Given the description of an element on the screen output the (x, y) to click on. 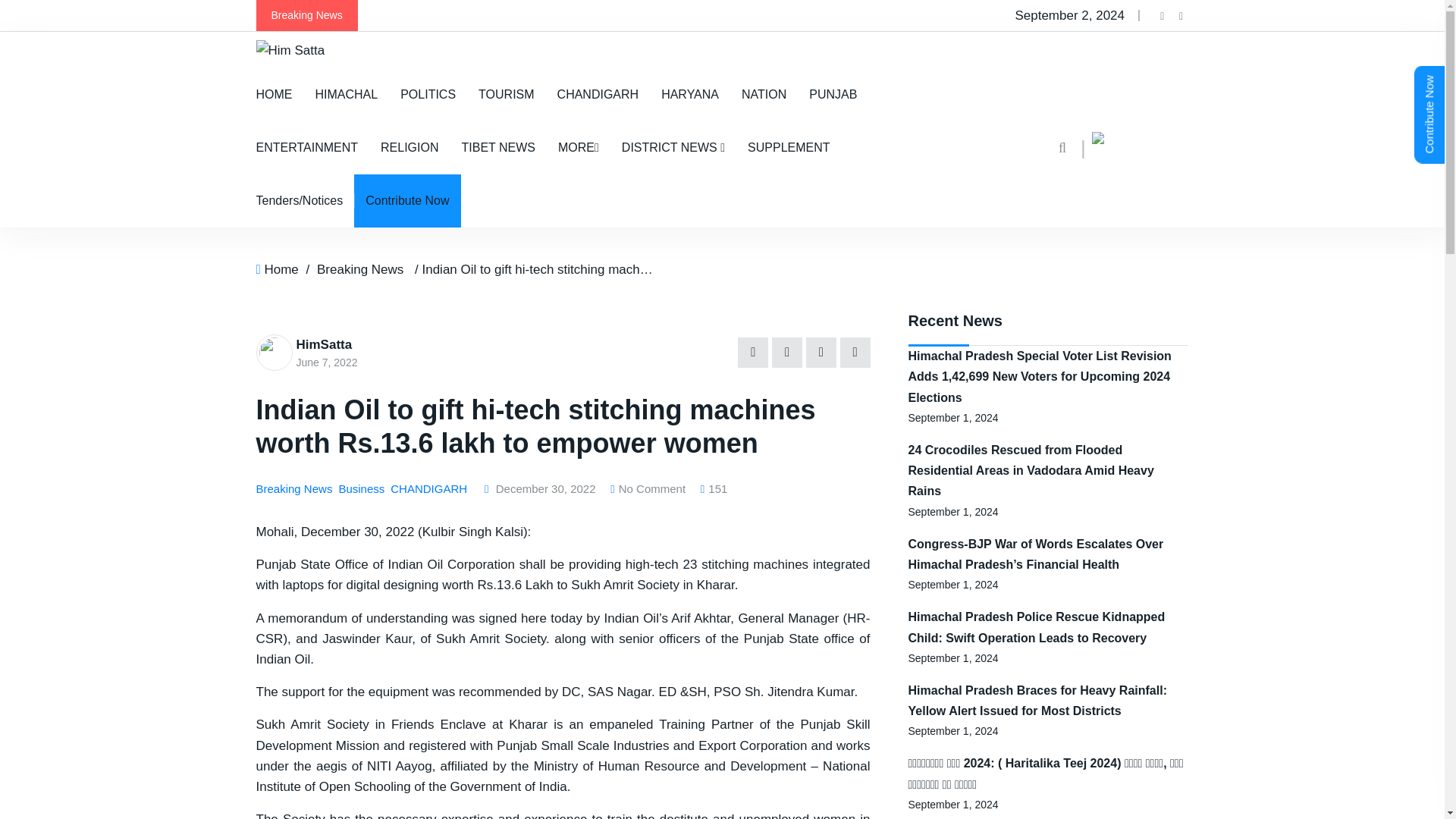
HIMACHAL (345, 94)
RELIGION (409, 147)
TIBET NEWS (498, 147)
POLITICS (427, 94)
TOURISM (505, 94)
HARYANA (689, 94)
MORE (578, 147)
NATION (763, 94)
DISTRICT NEWS (673, 147)
PUNJAB (832, 94)
